Given the description of an element on the screen output the (x, y) to click on. 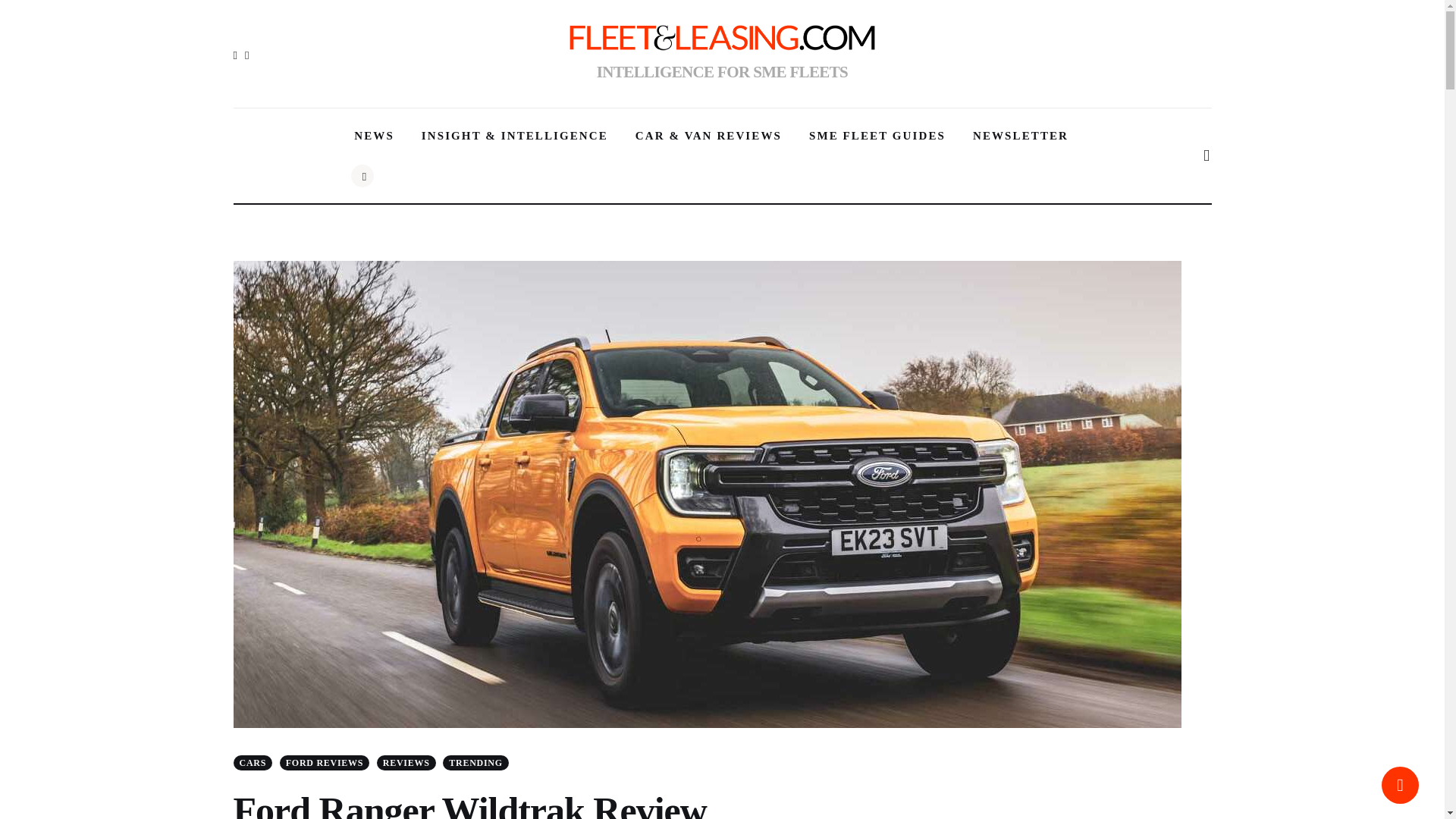
NEWS (373, 136)
